Given the description of an element on the screen output the (x, y) to click on. 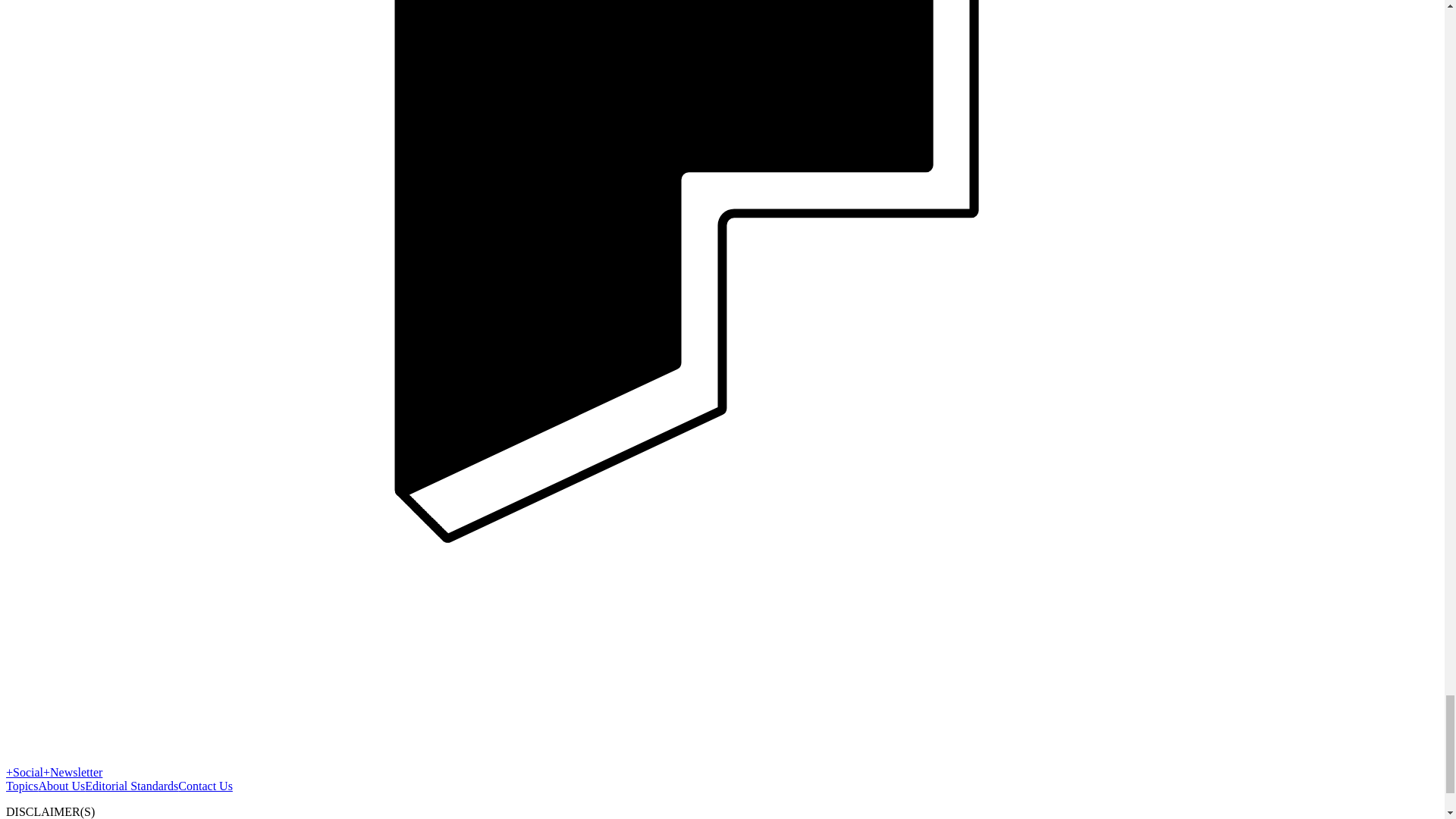
Editorial Standards (130, 785)
Topics (21, 785)
About Us (60, 785)
Contact Us (204, 785)
